Given the description of an element on the screen output the (x, y) to click on. 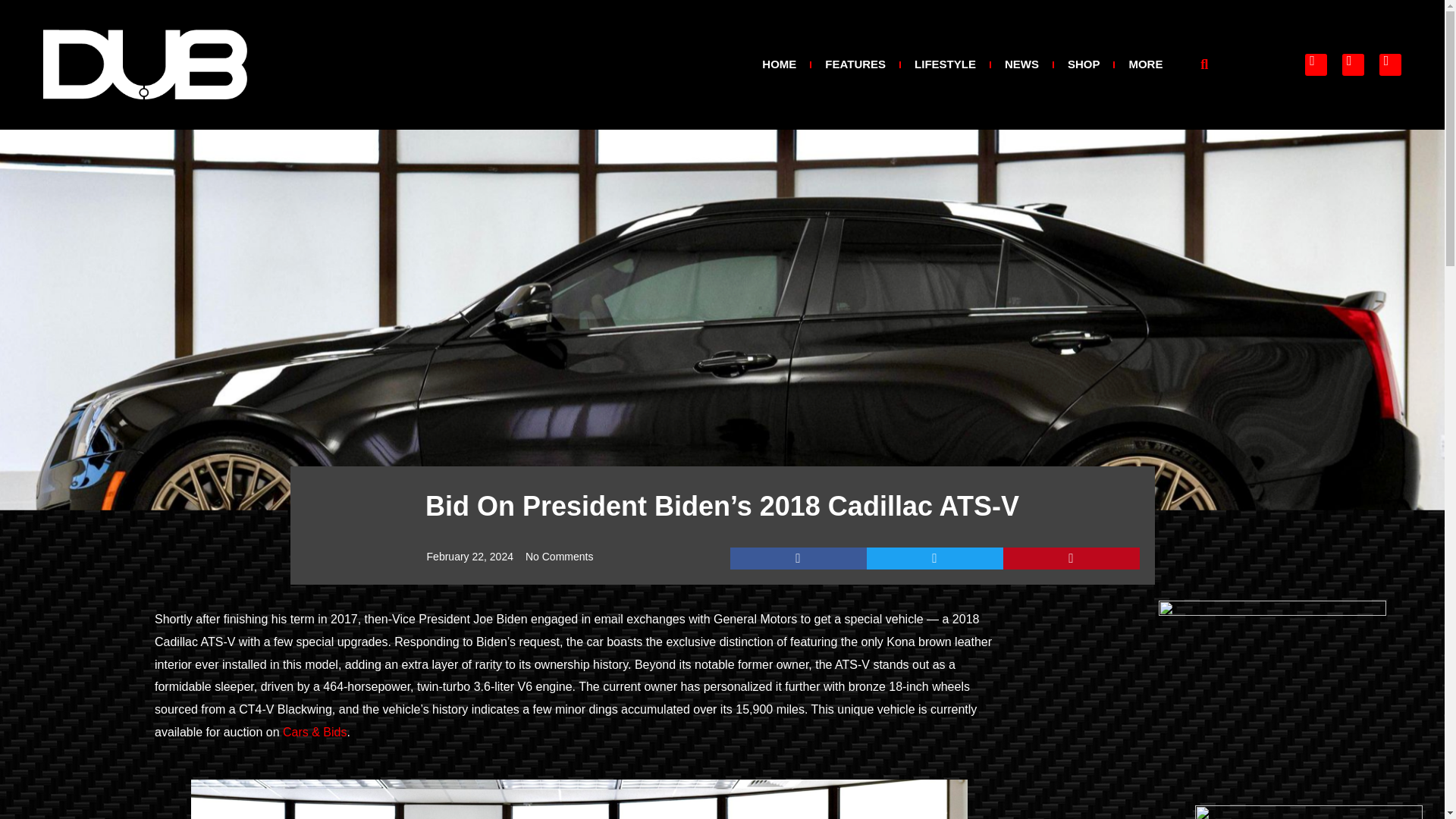
FEATURES (855, 64)
Youtube (1389, 65)
LIFESTYLE (944, 64)
HOME (778, 64)
Facebook-f (1315, 65)
SHOP (1083, 64)
Instagram (1353, 65)
NEWS (1021, 64)
February 22, 2024 (469, 557)
MORE (1144, 64)
